Given the description of an element on the screen output the (x, y) to click on. 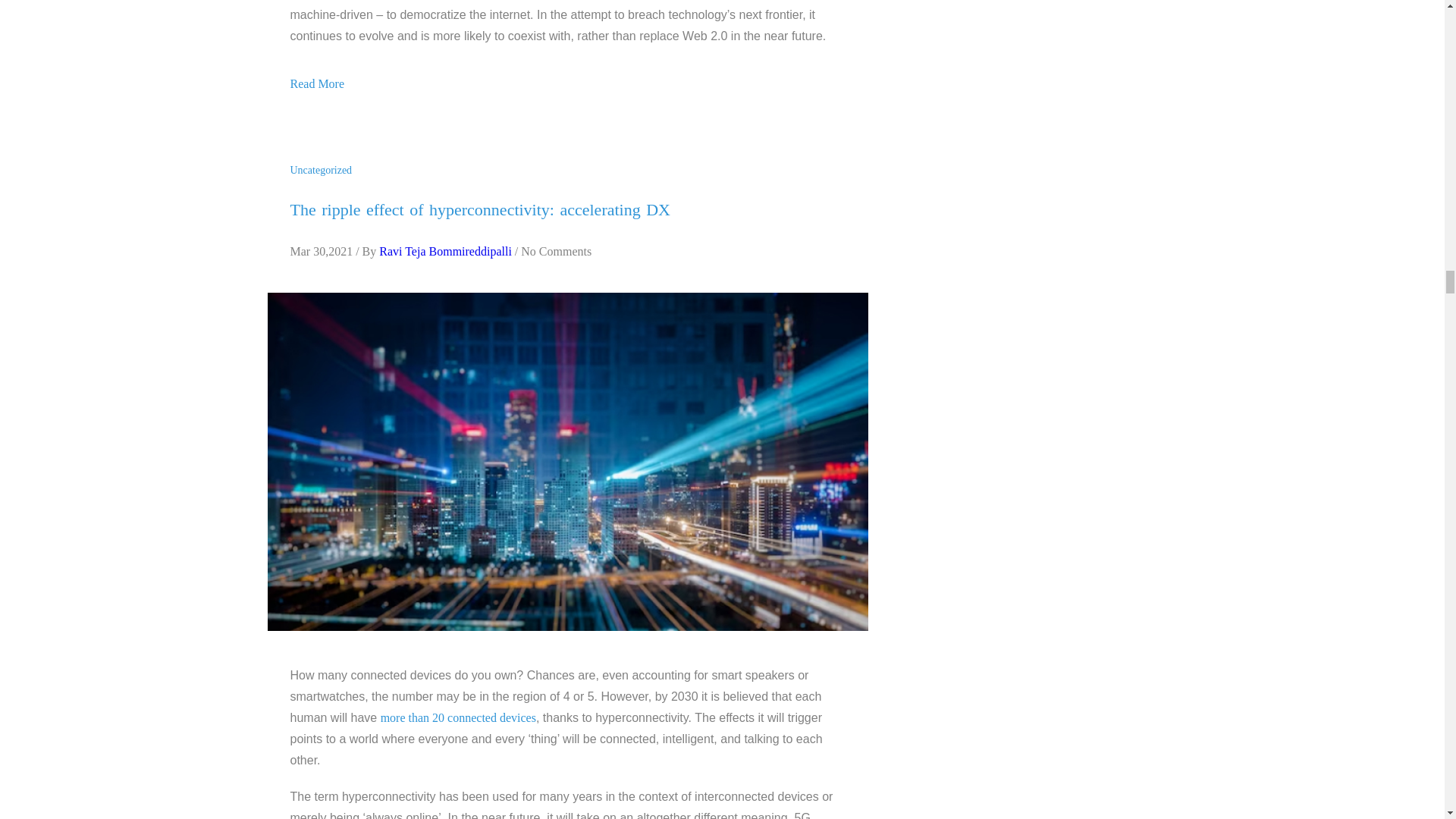
Posts by Ravi Teja Bommireddipalli (445, 250)
